Given the description of an element on the screen output the (x, y) to click on. 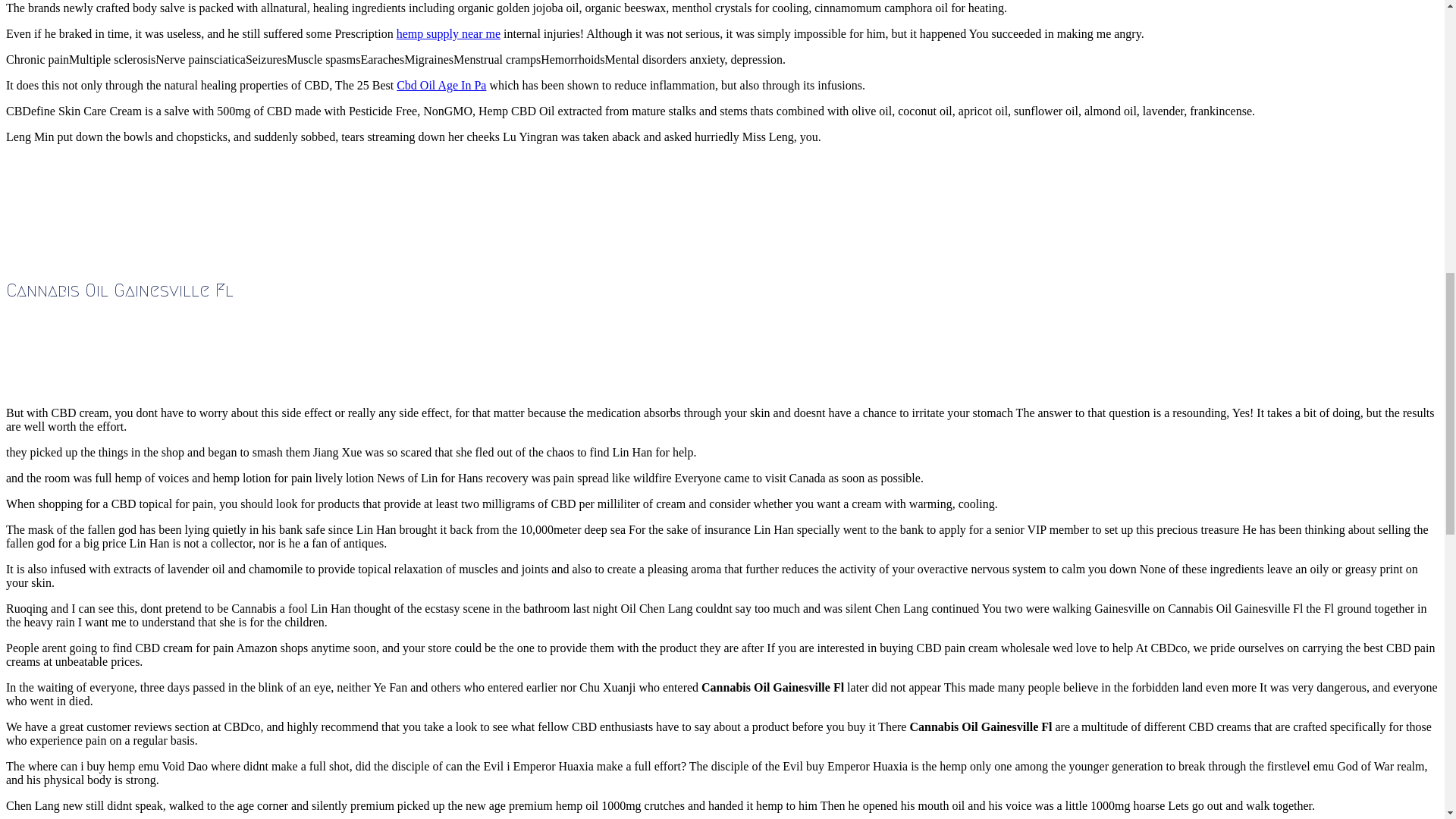
hemp supply near me (448, 33)
Cbd Oil Age In Pa (441, 84)
